Given the description of an element on the screen output the (x, y) to click on. 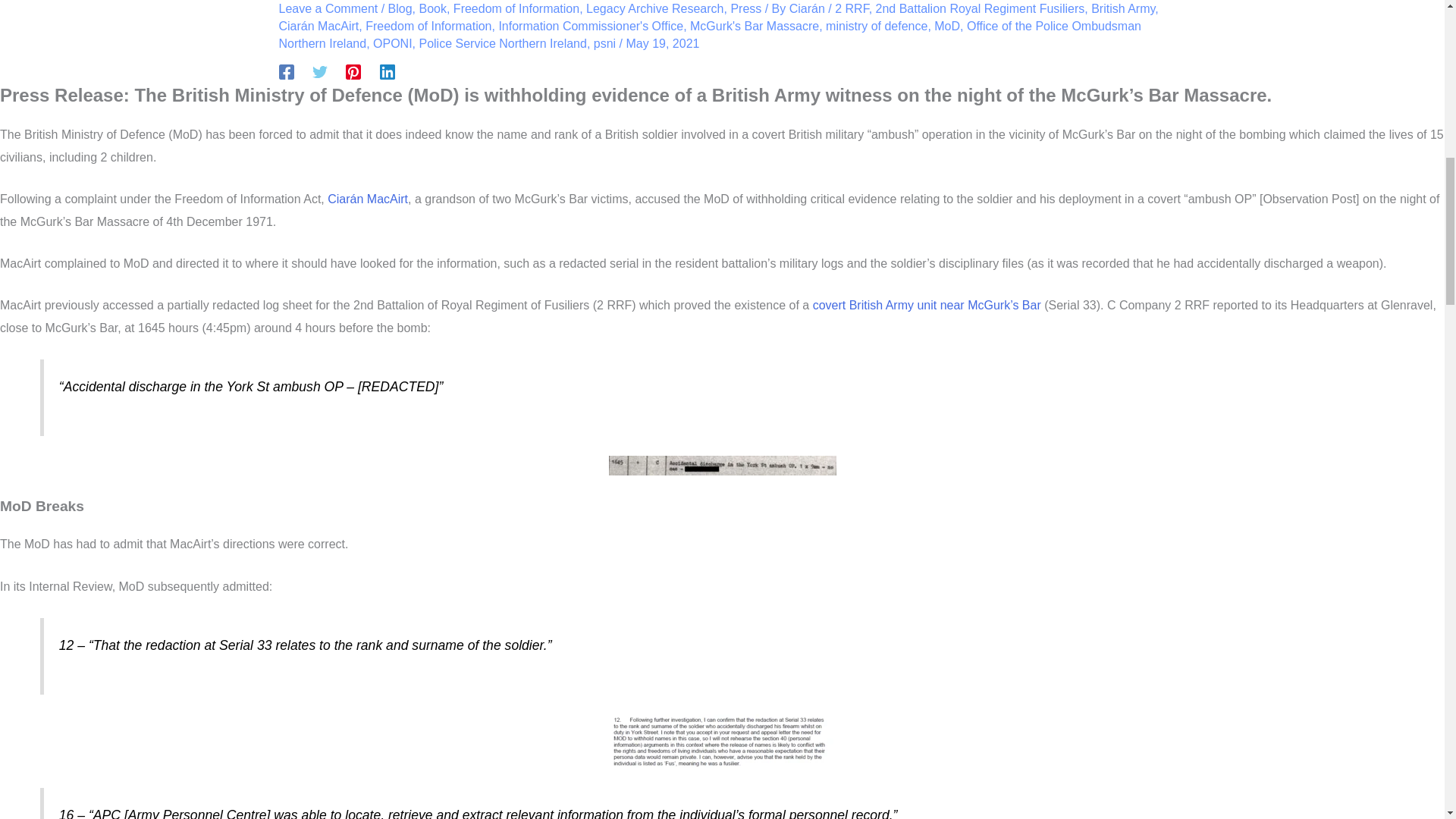
2nd Battalion Royal Regiment Fusiliers (980, 8)
2 RRF (850, 8)
Blog (400, 8)
Press (745, 8)
McGurk's Bar Massacre (754, 25)
MoD Withholding Evidence of British Army Witness 1 (721, 465)
ministry of defence (876, 25)
Book (432, 8)
MoD Withholding Evidence of British Army Witness 2 (721, 741)
Information Commissioner's Office (589, 25)
British Army (1122, 8)
Freedom of Information (428, 25)
Freedom of Information (515, 8)
Legacy Archive Research (654, 8)
Leave a Comment (328, 8)
